Given the description of an element on the screen output the (x, y) to click on. 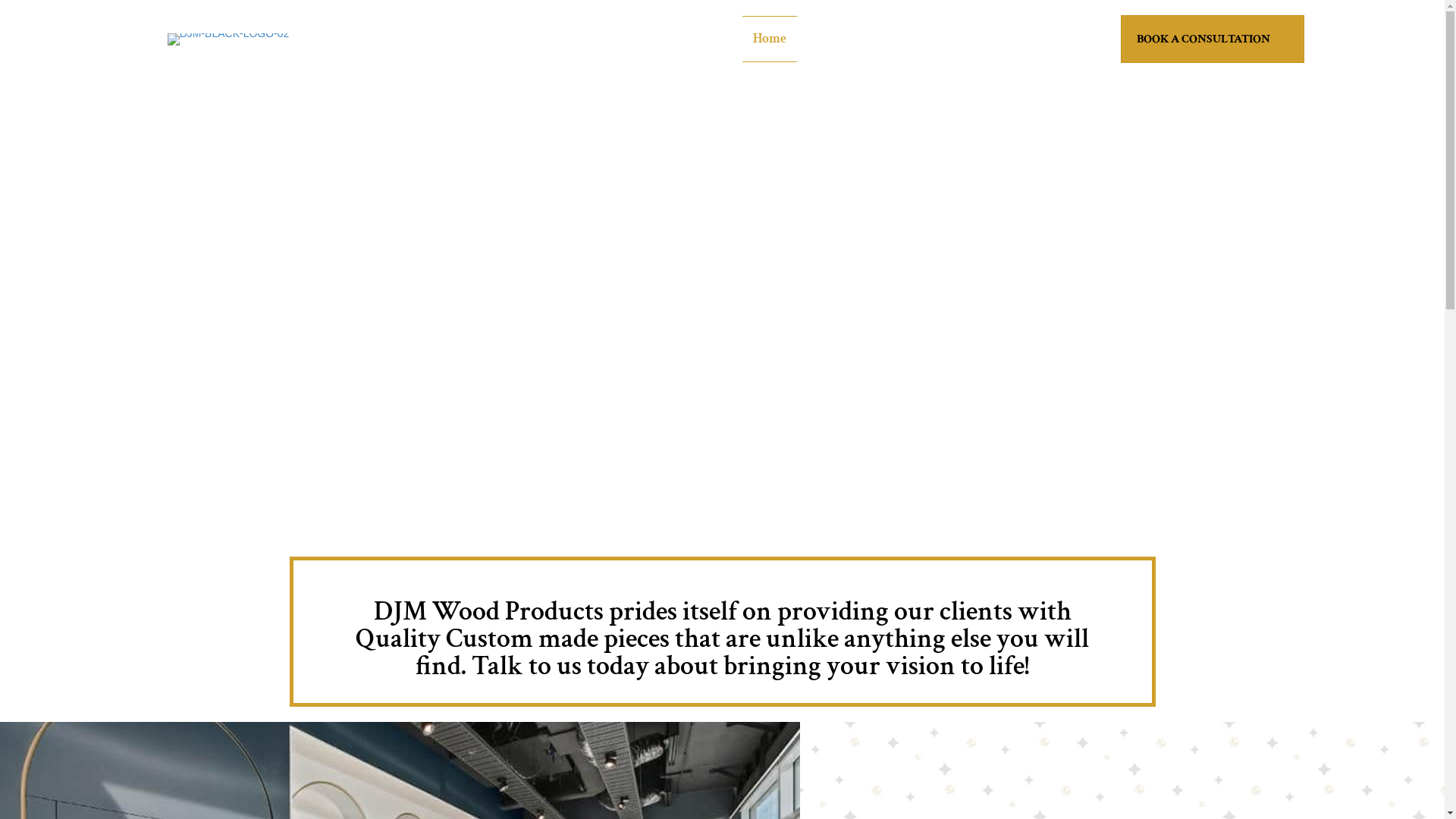
About Us Element type: text (834, 38)
Home Element type: text (769, 38)
Contact Us Element type: text (1048, 38)
Services Element type: text (907, 38)
Gallery Element type: text (974, 38)
DJM-BLACK-LOGO-02 Element type: hover (228, 39)
BOOK A CONSULTATION Element type: text (1212, 38)
